Given the description of an element on the screen output the (x, y) to click on. 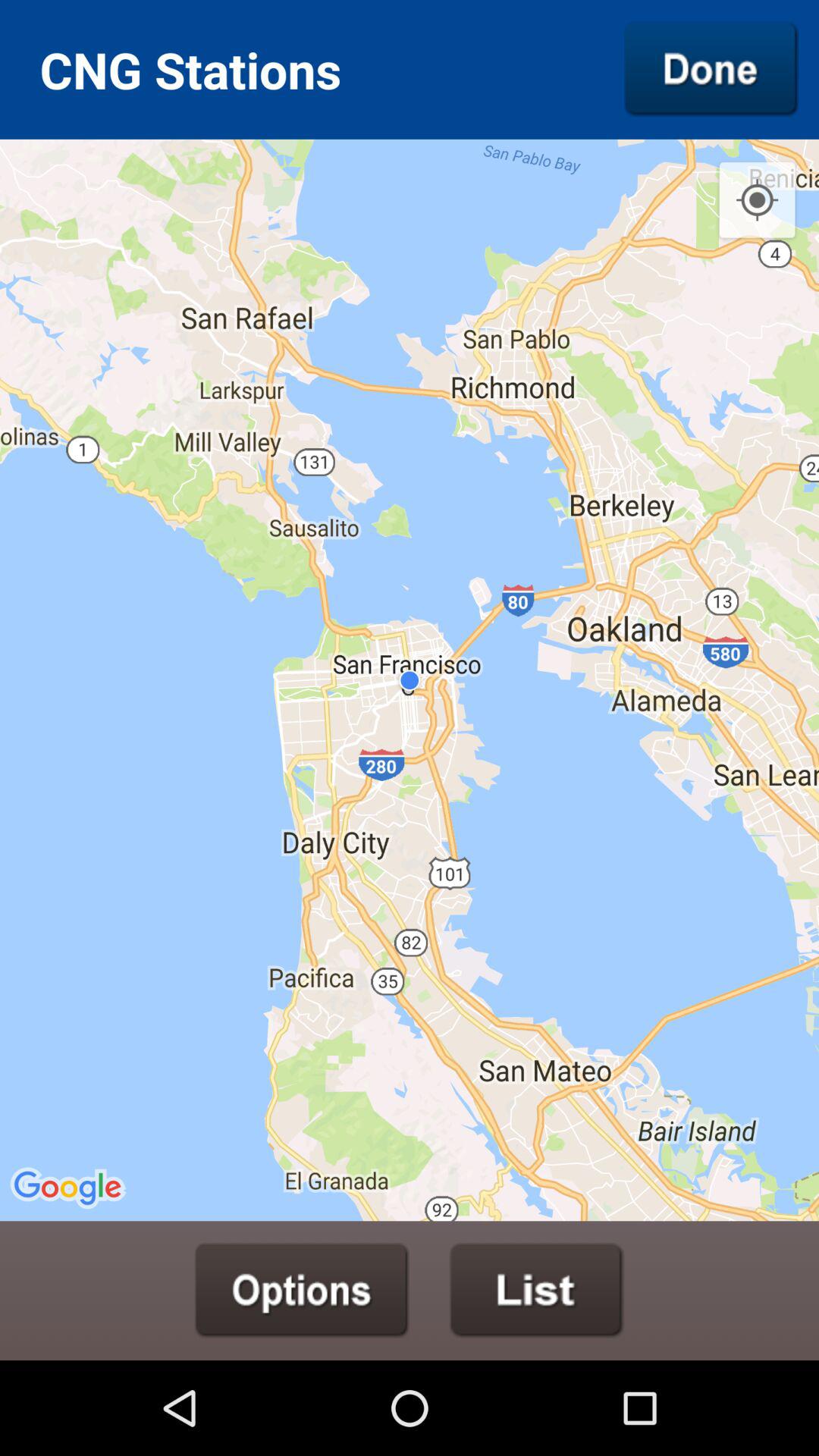
button text (301, 1290)
